Given the description of an element on the screen output the (x, y) to click on. 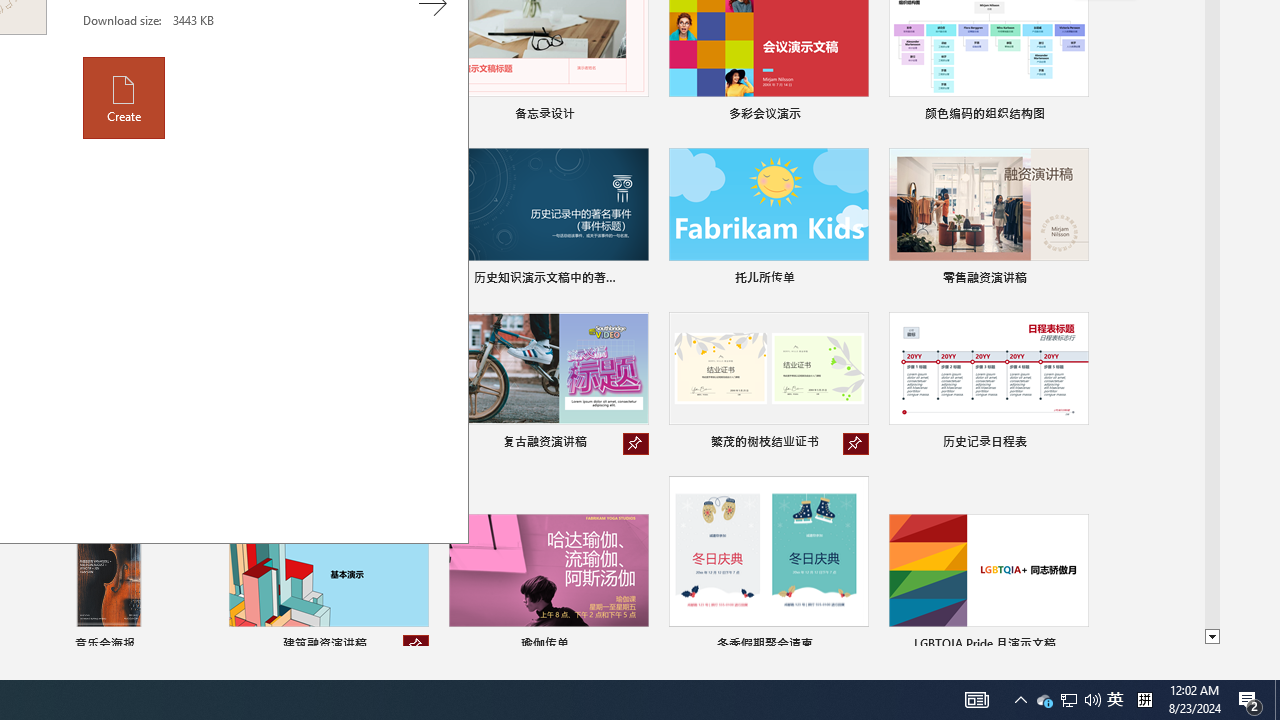
Pin to list (1075, 645)
Unpin from list (415, 645)
Create (124, 97)
